Given the description of an element on the screen output the (x, y) to click on. 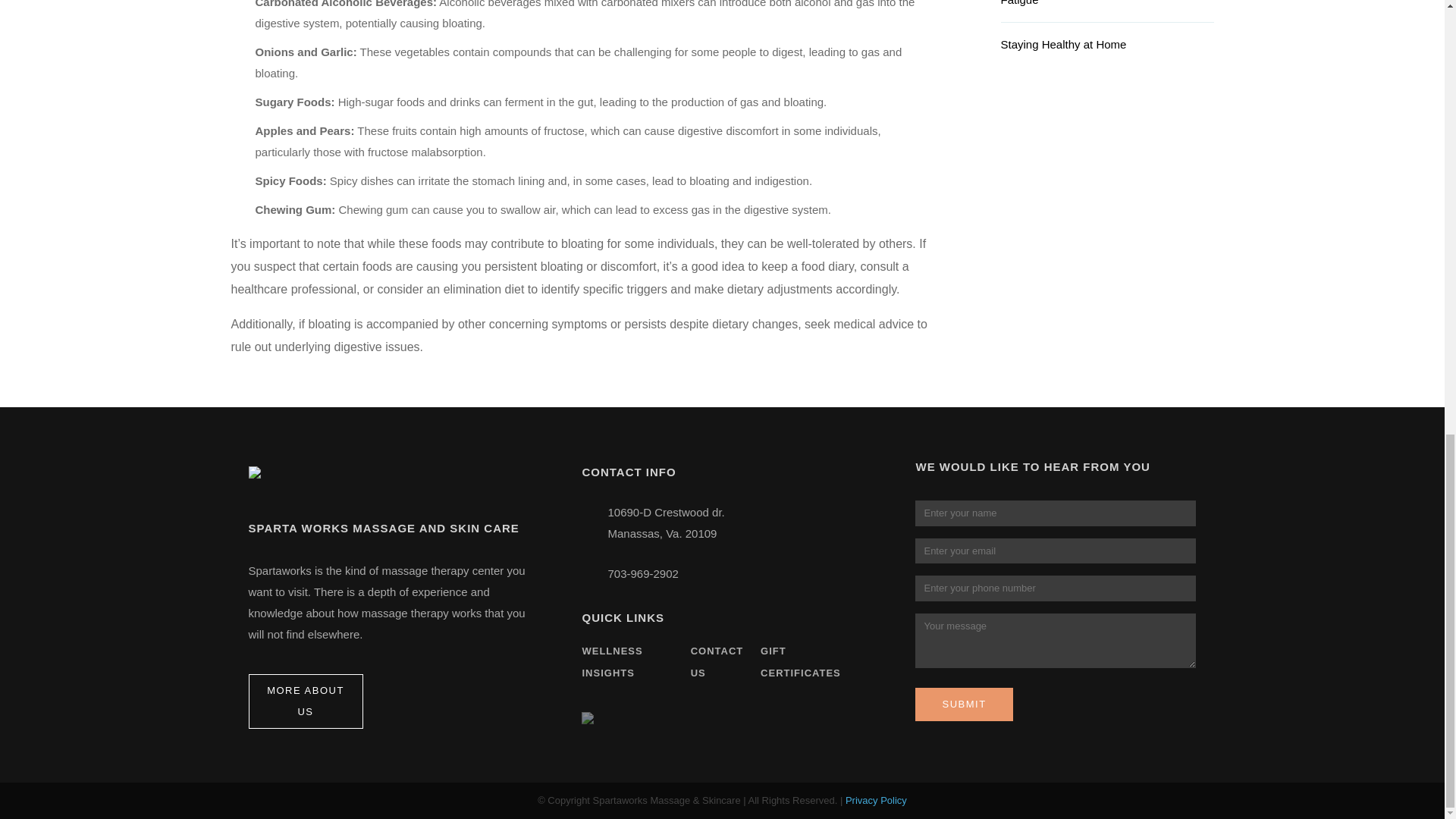
WELLNESS INSIGHTS (611, 661)
MORE ABOUT US (305, 701)
Submit (963, 704)
Submit (963, 704)
GIFT CERTIFICATES (800, 661)
703-969-2902 (642, 573)
Staying Healthy at Home (1107, 50)
CONTACT US (717, 661)
Privacy Policy (876, 799)
